Given the description of an element on the screen output the (x, y) to click on. 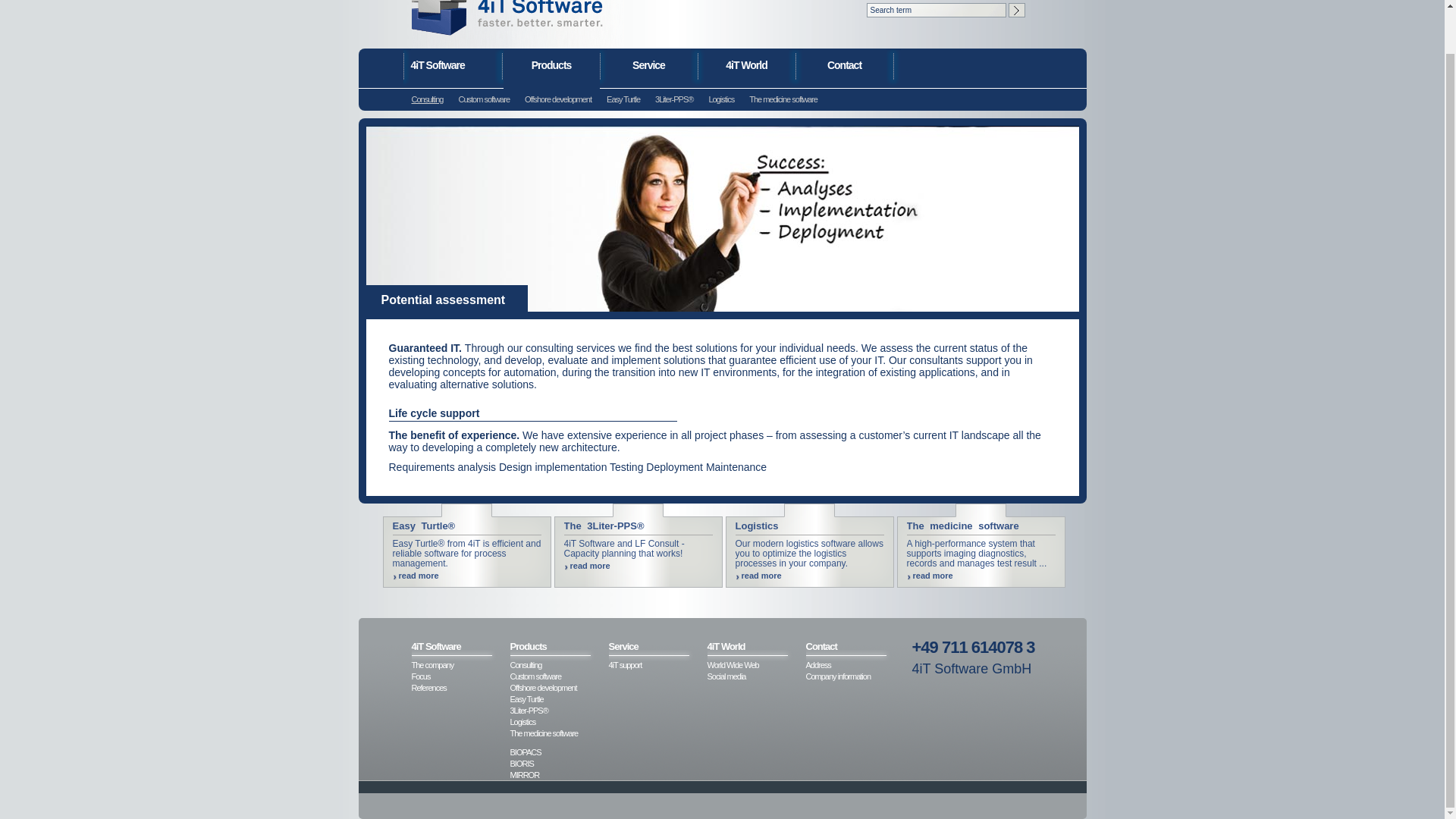
Custom software (483, 99)
Products (551, 78)
Products (558, 646)
Easy Turtle (558, 699)
The medicine software (782, 99)
Offshore development (557, 99)
The company (459, 665)
read more (809, 575)
read more (981, 575)
Consulting (426, 99)
Offshore development (558, 687)
Custom software (558, 676)
Focus (459, 676)
4iT Software (459, 646)
